Given the description of an element on the screen output the (x, y) to click on. 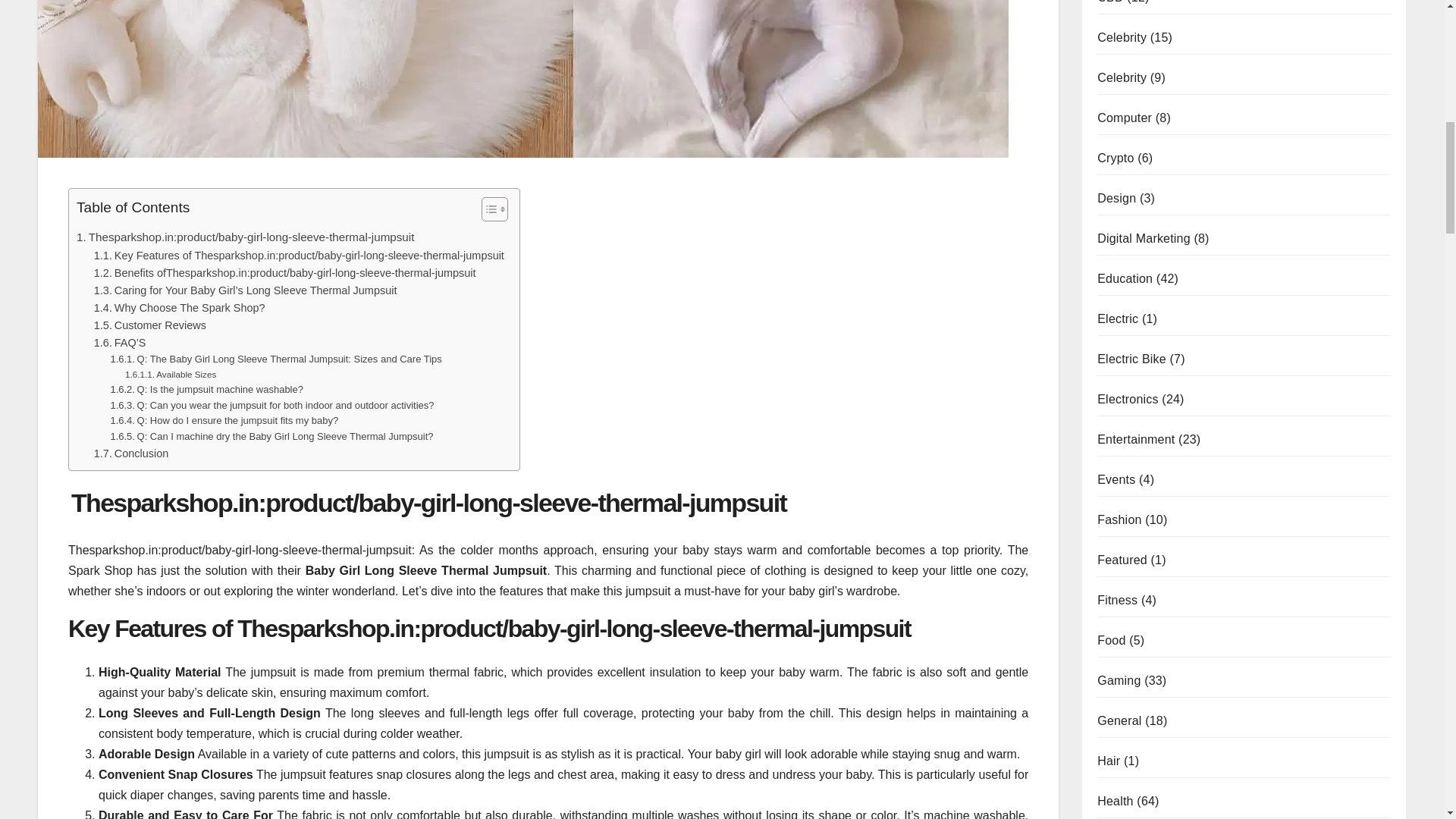
Q: Is the jumpsuit machine washable? (206, 390)
Customer Reviews (150, 325)
Why Choose The Spark Shop? (179, 307)
Available Sizes (170, 374)
Customer Reviews (150, 325)
Conclusion (131, 453)
Q: How do I ensure the jumpsuit fits my baby? (223, 421)
Why Choose The Spark Shop? (179, 307)
